Given the description of an element on the screen output the (x, y) to click on. 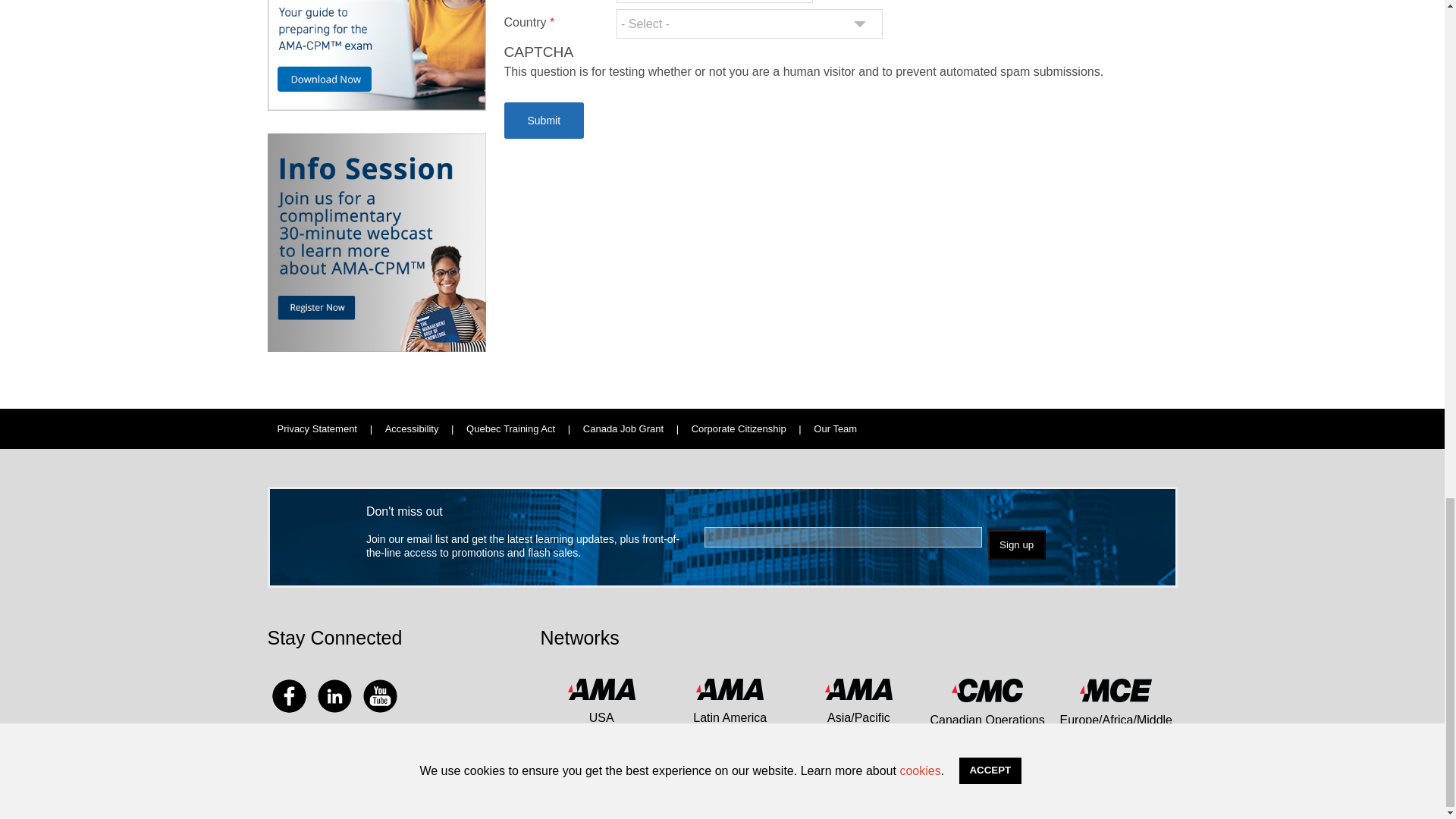
Submit (543, 120)
Sign up (1016, 544)
